Given the description of an element on the screen output the (x, y) to click on. 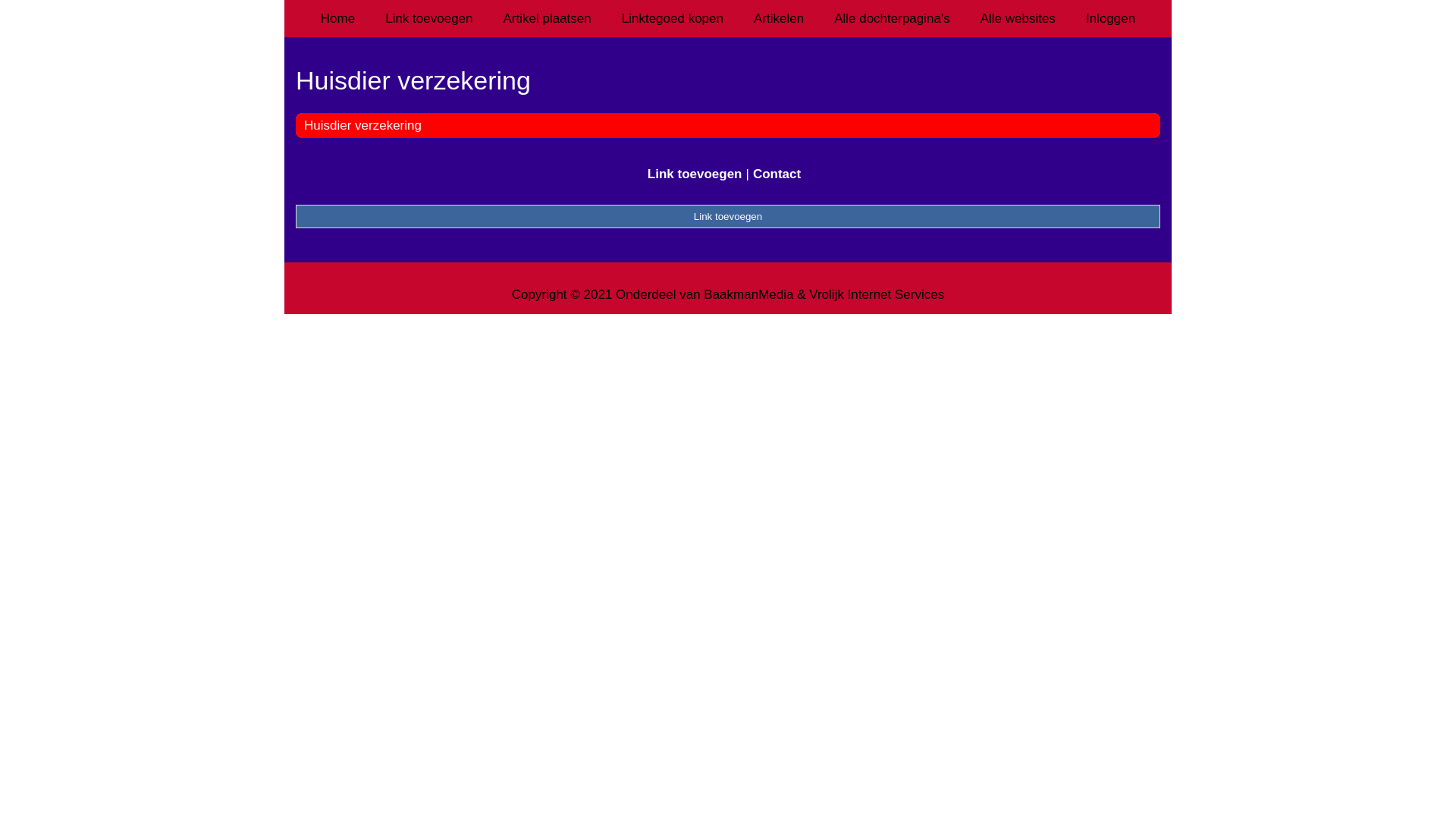
Home Element type: text (337, 18)
Vrolijk Internet Services Element type: text (876, 294)
Link toevoegen Element type: text (694, 173)
Contact Element type: text (776, 173)
Artikel plaatsen Element type: text (547, 18)
Artikelen Element type: text (778, 18)
Linktegoed kopen Element type: text (672, 18)
Huisdier verzekering Element type: text (727, 80)
BaakmanMedia Element type: text (748, 294)
Link toevoegen Element type: text (727, 215)
Inloggen Element type: text (1110, 18)
Alle websites Element type: text (1017, 18)
Link toevoegen Element type: text (428, 18)
Alle dochterpagina's Element type: text (892, 18)
Huisdier verzekering Element type: text (362, 125)
